Given the description of an element on the screen output the (x, y) to click on. 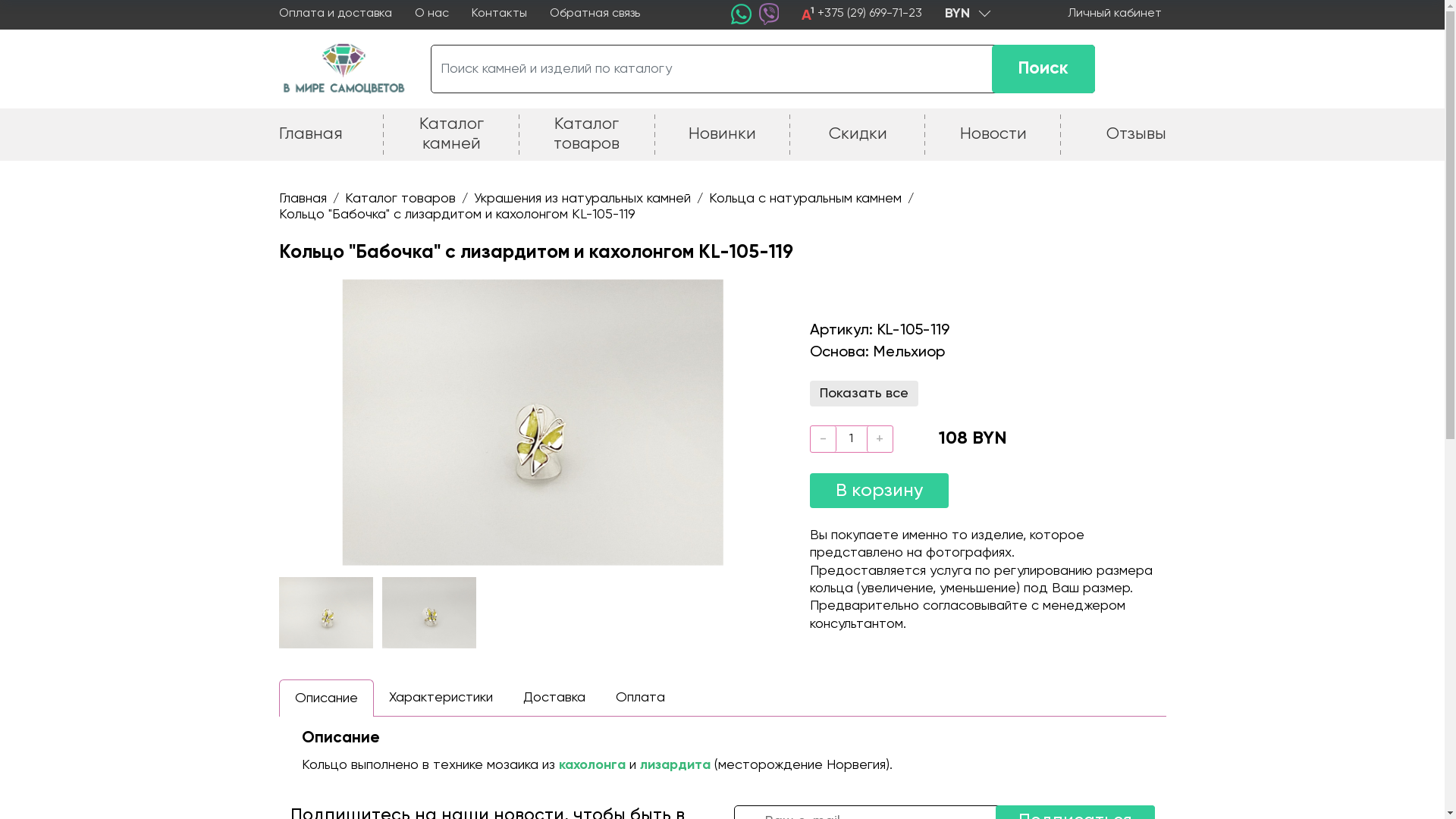
+375 (29) 699-71-23 Element type: text (869, 13)
BYN Element type: text (966, 14)
